Given the description of an element on the screen output the (x, y) to click on. 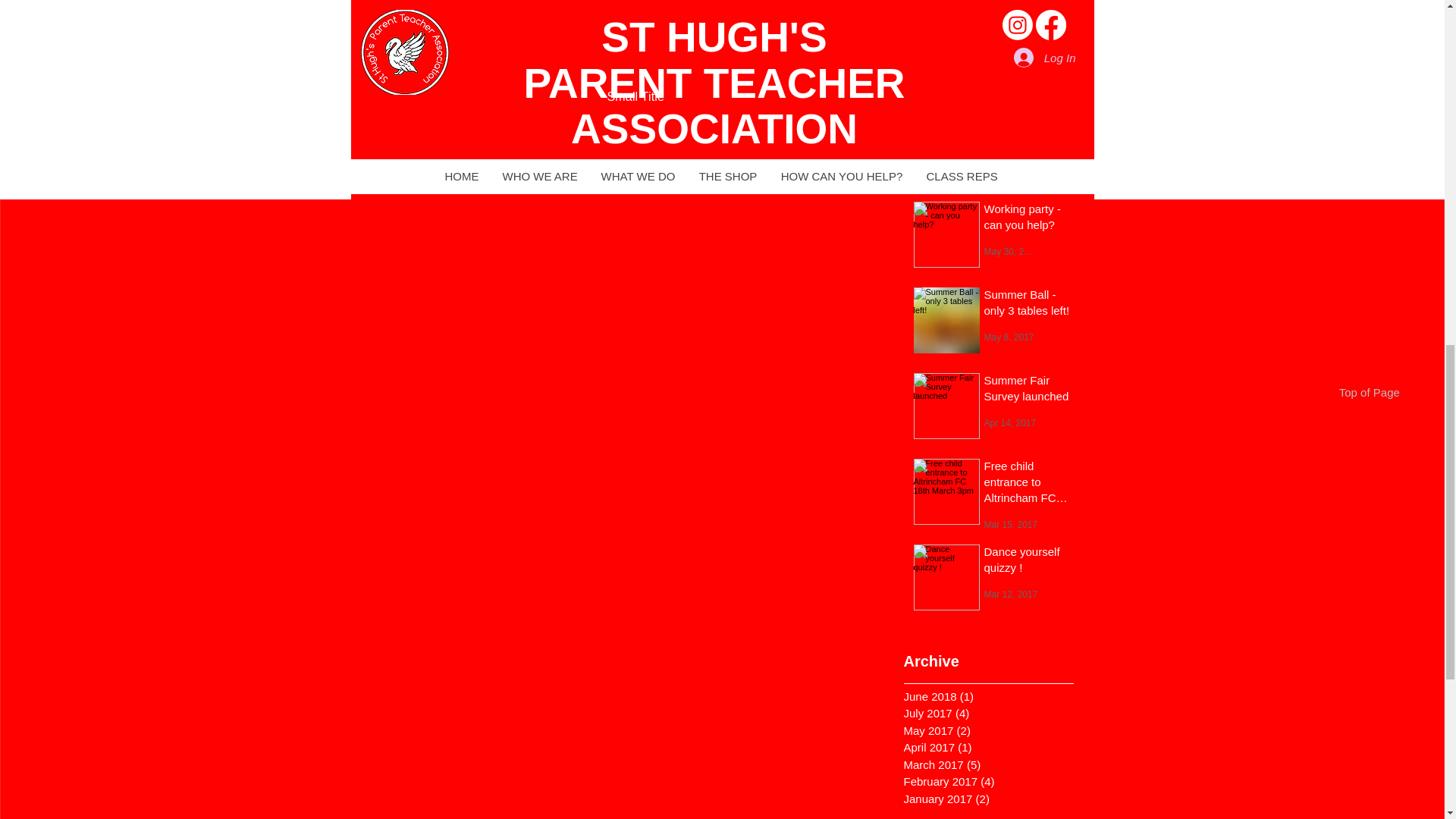
Mar 15, 2017 (1011, 523)
May 8, 2017 (1008, 337)
Working party - can you help? (1027, 218)
Summer Fair Survey launched (1027, 390)
Jul 20, 2017 (1008, 9)
Free child entrance to Altrincham FC 18th March 3pm (1027, 484)
Mar 12, 2017 (1011, 593)
Jul 5, 2017 (1006, 165)
Jul 17, 2017 (1008, 95)
May 30, 2017 (1011, 250)
